Given the description of an element on the screen output the (x, y) to click on. 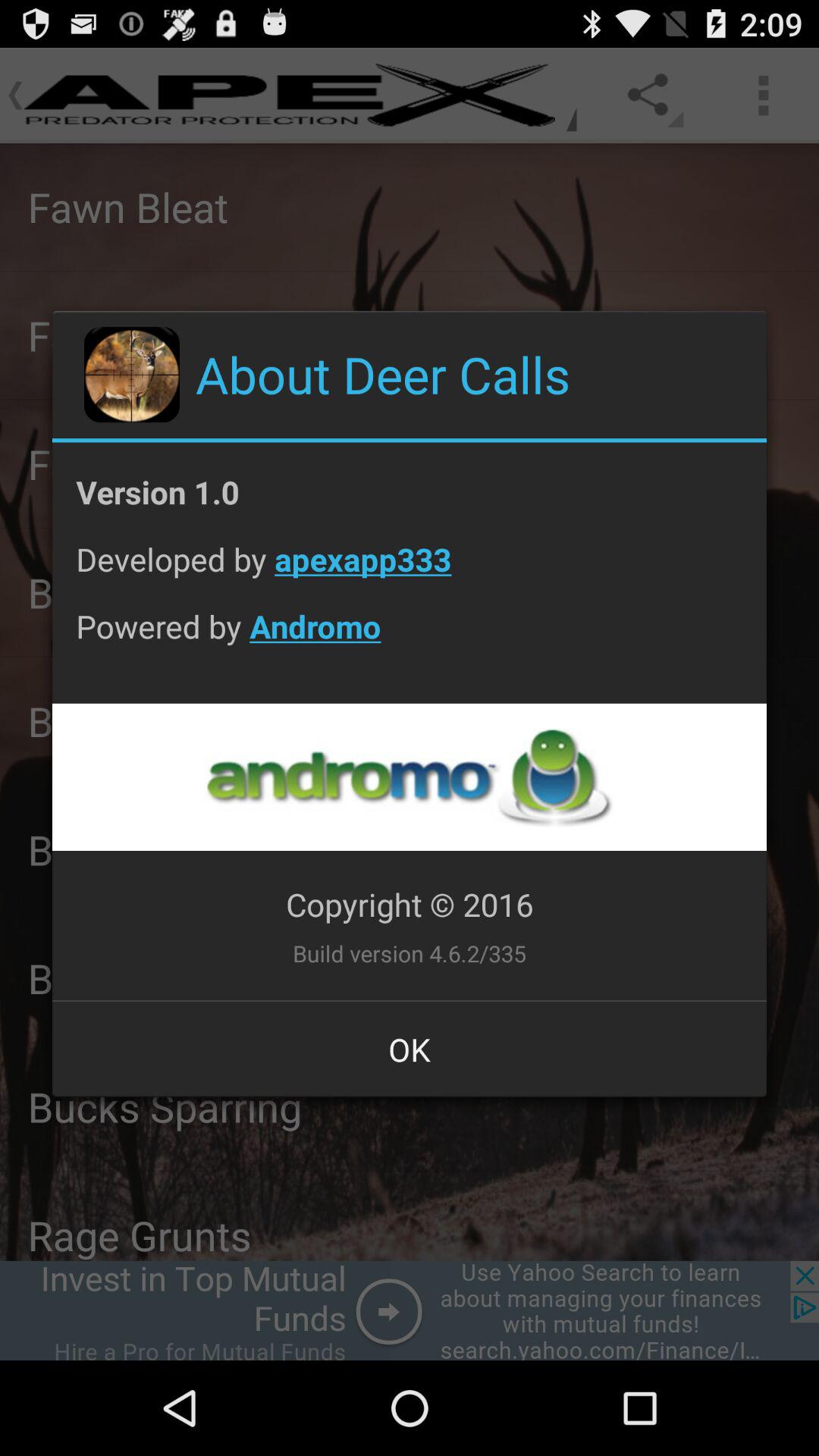
tap icon below version 1.0 icon (409, 570)
